Given the description of an element on the screen output the (x, y) to click on. 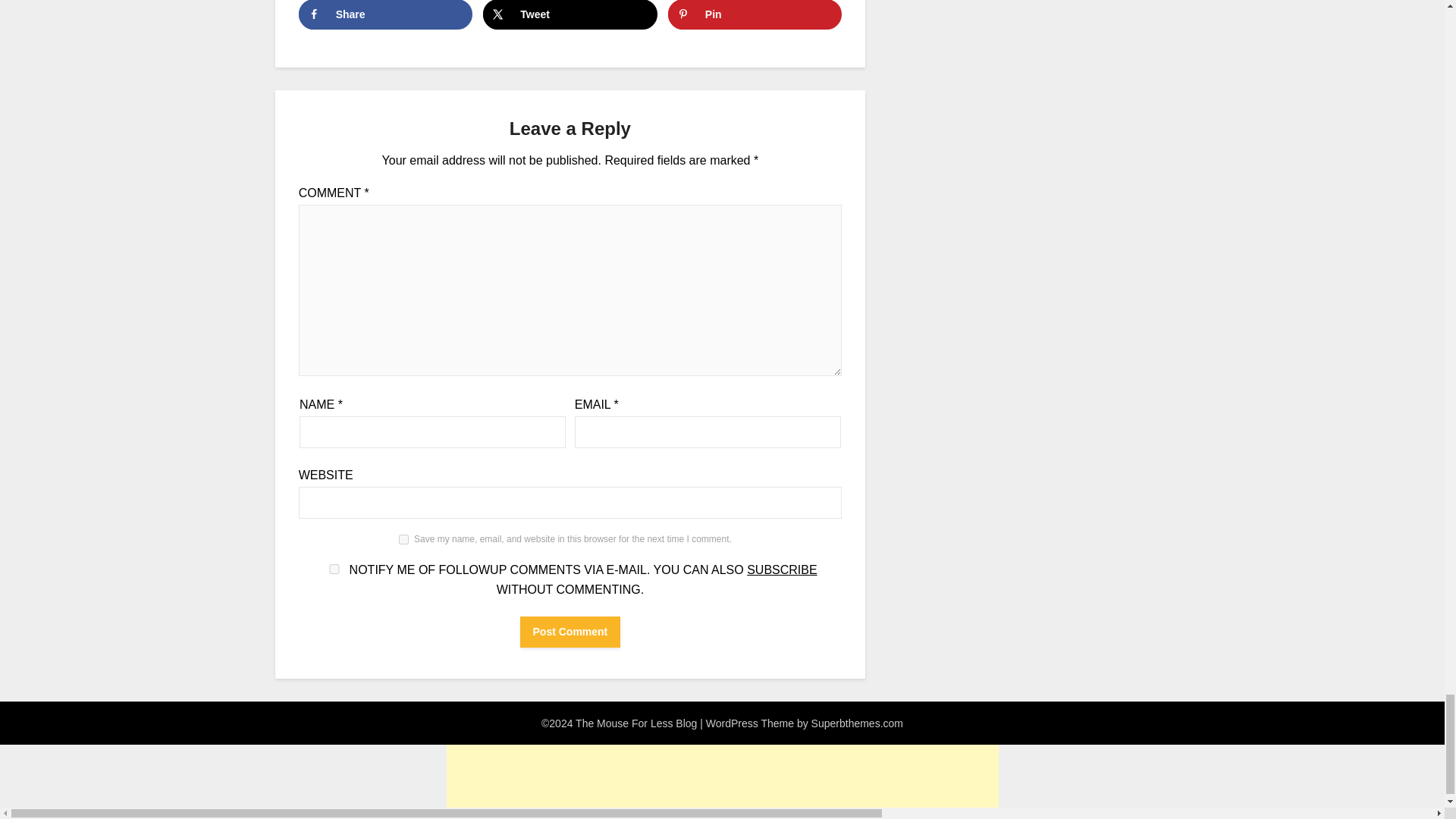
Pin (754, 14)
Superbthemes.com (856, 723)
yes (334, 569)
Post Comment (570, 631)
Save to Pinterest (754, 14)
yes (403, 539)
Share on Facebook (384, 14)
Post Comment (570, 631)
Share (384, 14)
Share on X (569, 14)
SUBSCRIBE (781, 569)
Tweet (569, 14)
